Given the description of an element on the screen output the (x, y) to click on. 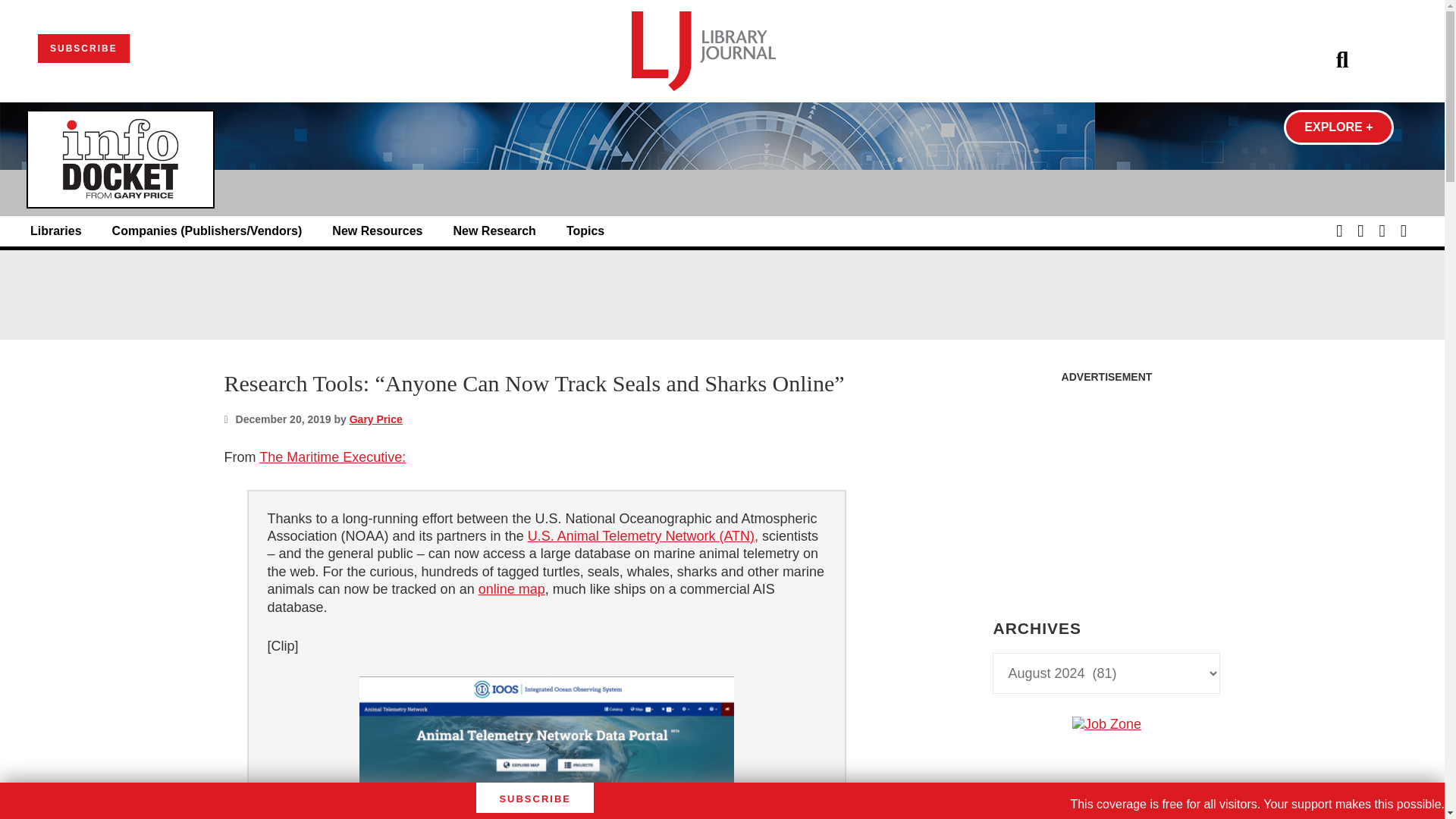
SUBSCRIBE (83, 48)
3rd party ad content (1106, 816)
New Research (493, 231)
New Resources (376, 231)
3rd party ad content (1106, 485)
Libraries (55, 231)
3rd party ad content (721, 294)
